Given the description of an element on the screen output the (x, y) to click on. 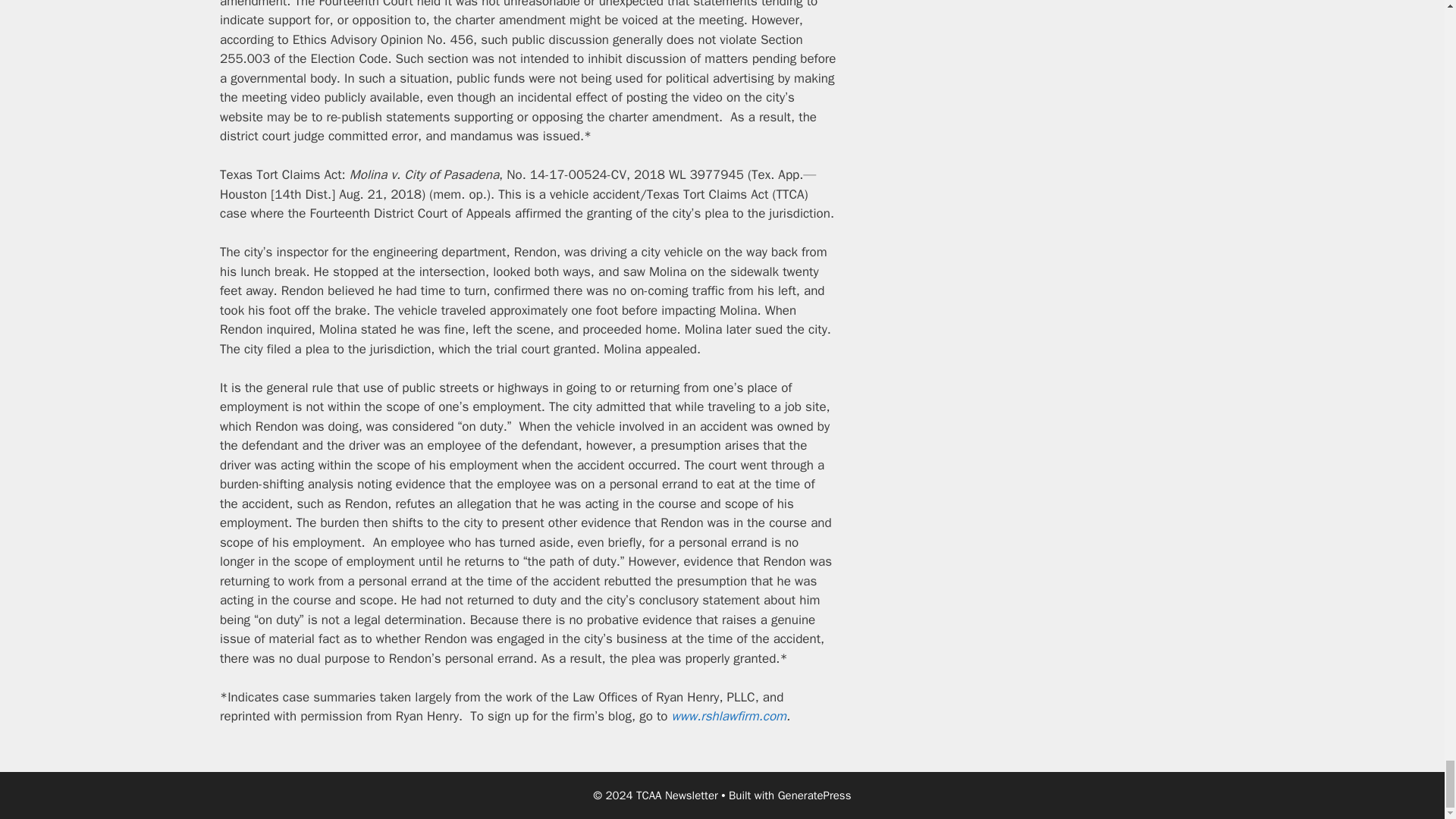
www.rshlawfirm.com (728, 715)
GeneratePress (814, 795)
